Given the description of an element on the screen output the (x, y) to click on. 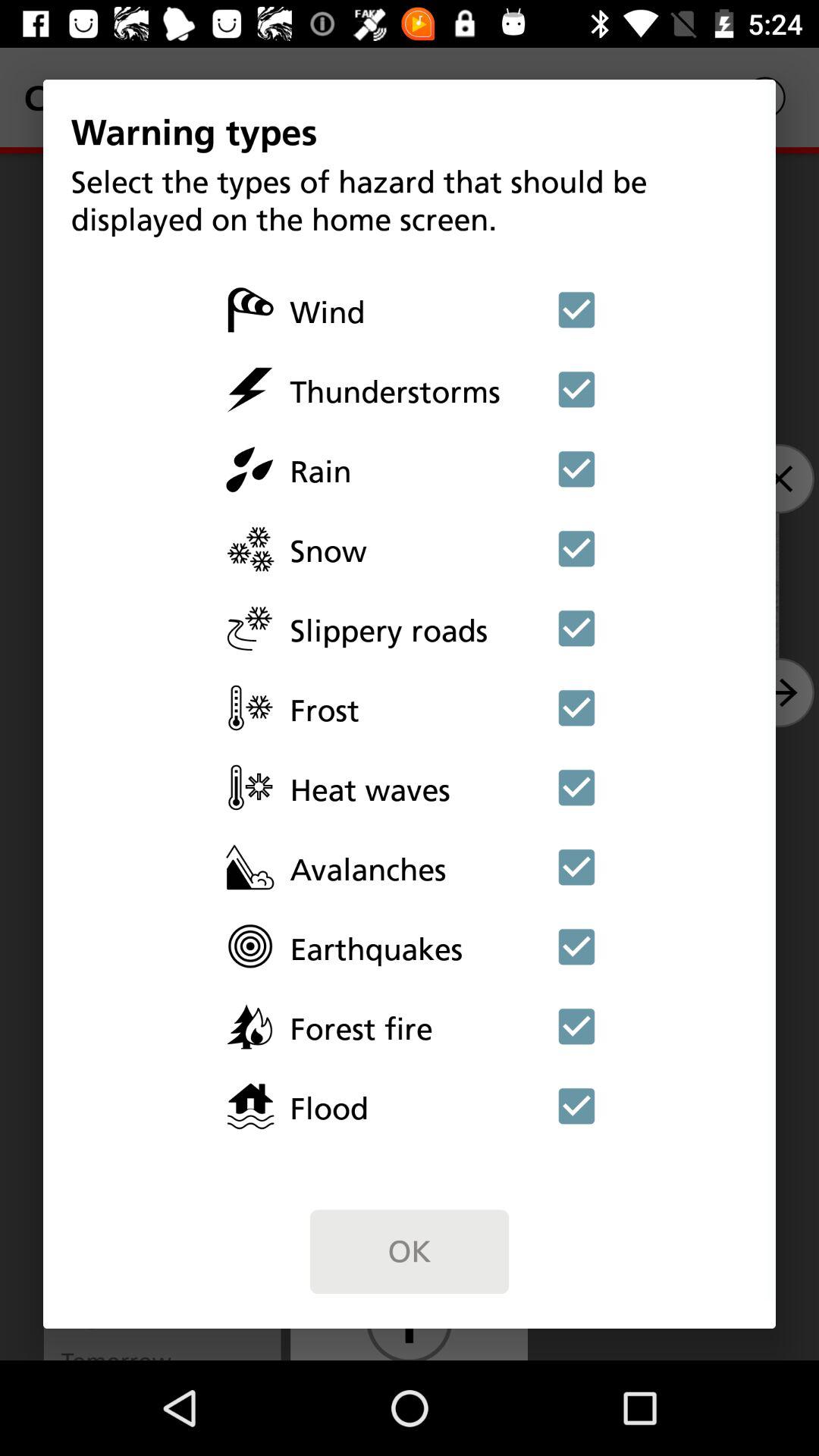
earthquakes check box (576, 946)
